Given the description of an element on the screen output the (x, y) to click on. 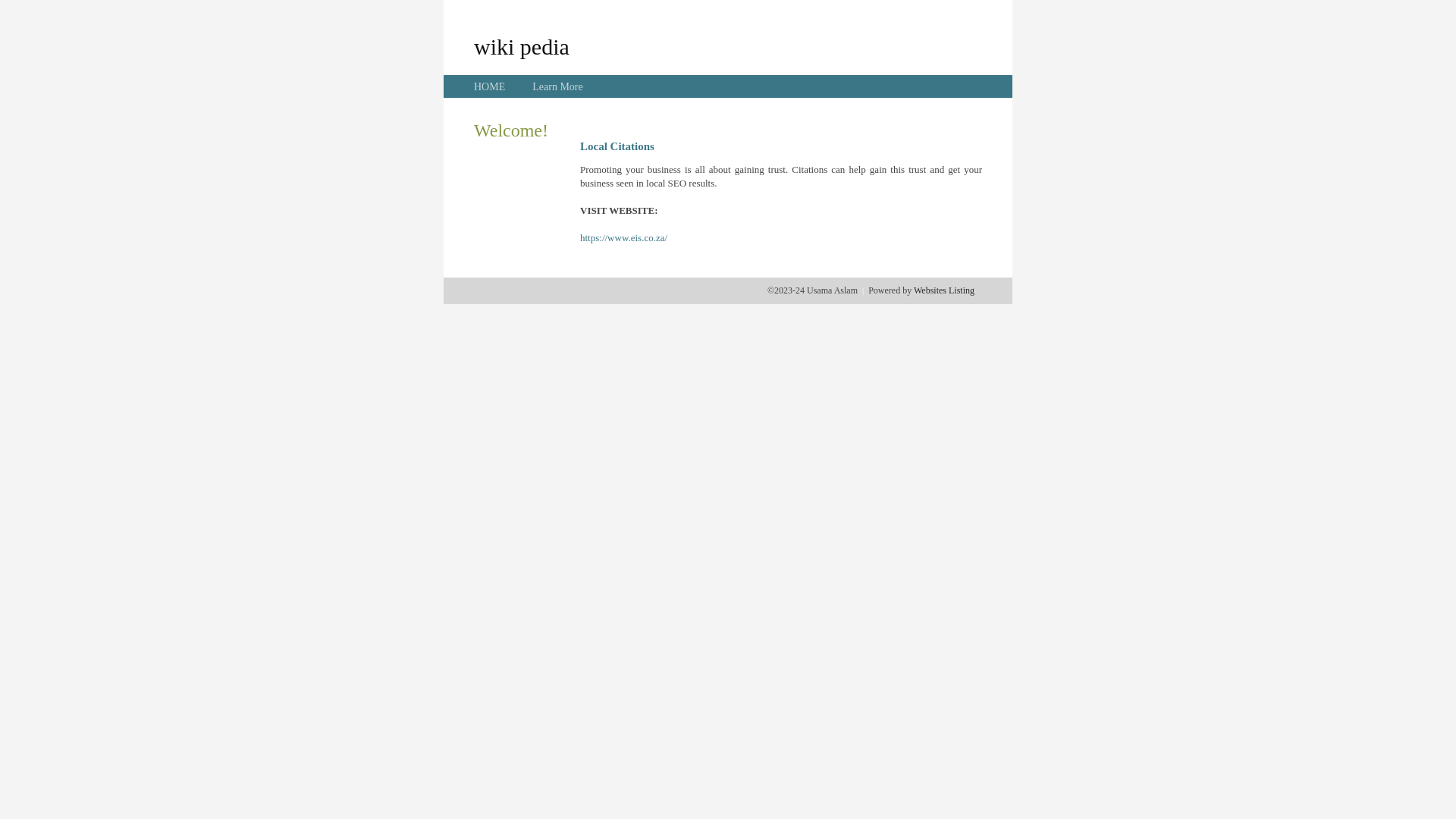
HOME Element type: text (489, 86)
https://www.eis.co.za/ Element type: text (623, 237)
wiki pedia Element type: text (521, 46)
Websites Listing Element type: text (943, 290)
Learn More Element type: text (557, 86)
